Given the description of an element on the screen output the (x, y) to click on. 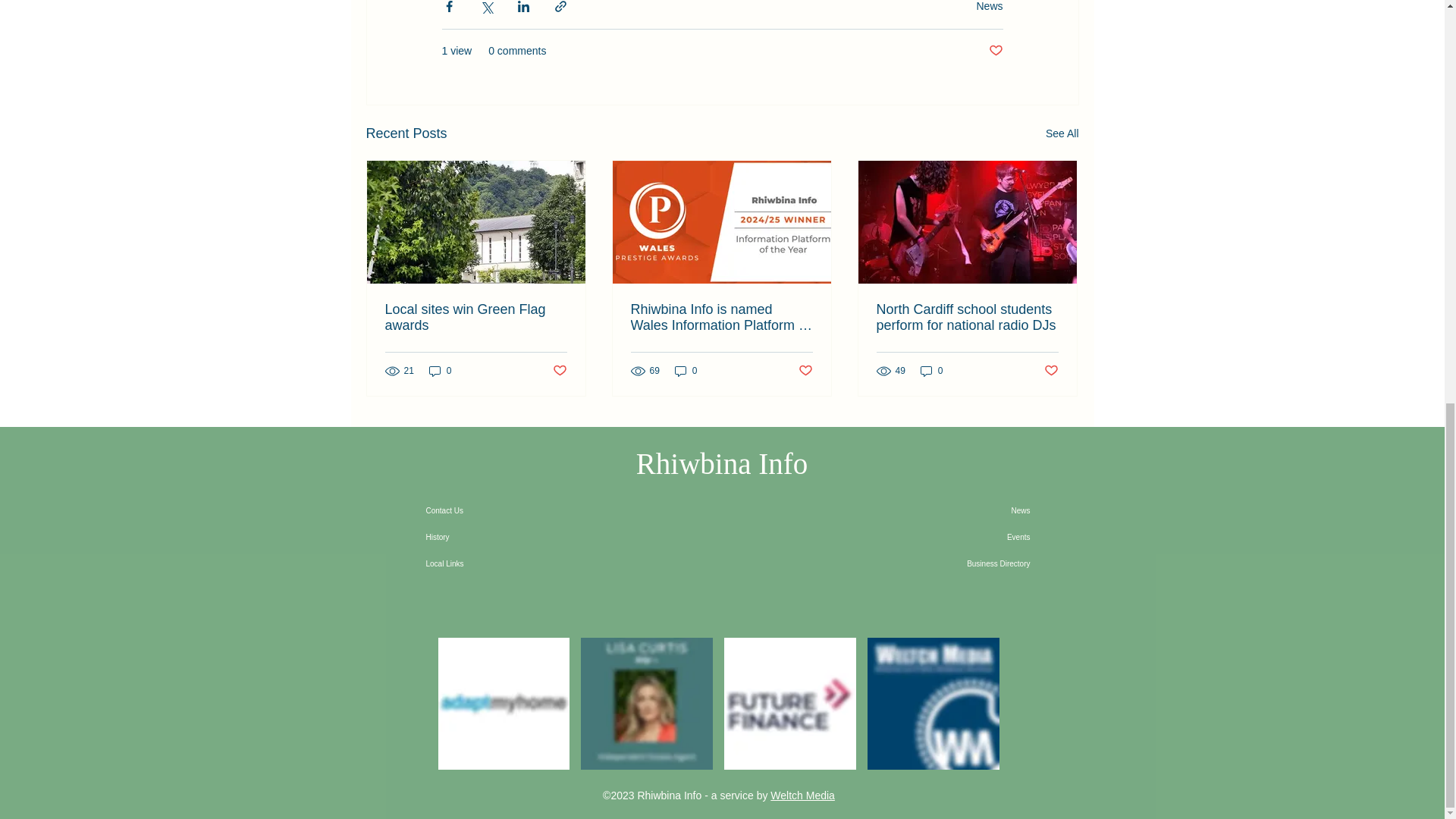
Post not marked as liked (995, 50)
0 (440, 370)
News (989, 5)
See All (1061, 133)
Post not marked as liked (558, 371)
0 (685, 370)
Local sites win Green Flag awards (476, 317)
